Given the description of an element on the screen output the (x, y) to click on. 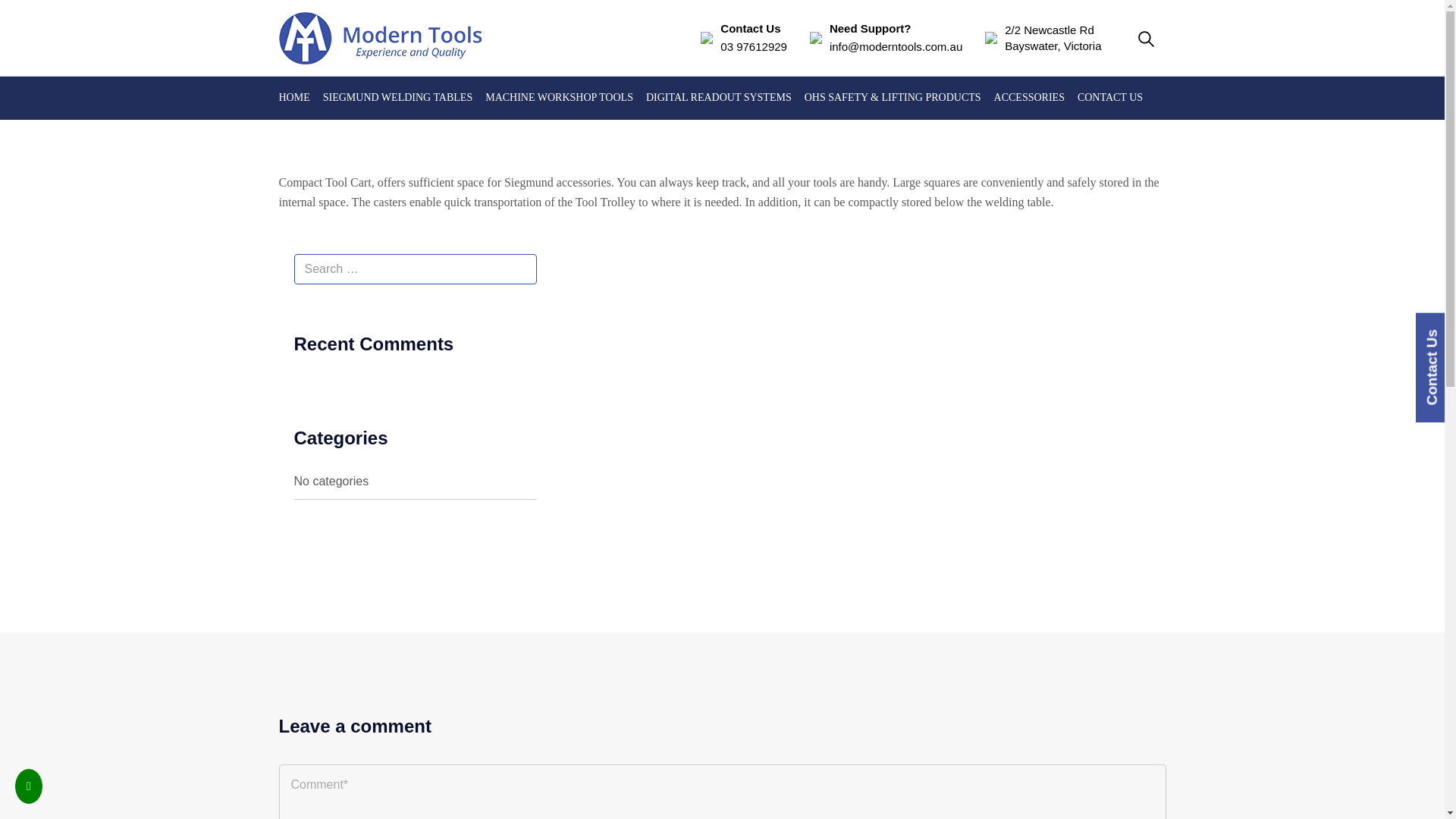
CONTACT US (1109, 97)
DIGITAL READOUT SYSTEMS (719, 97)
HOME (294, 97)
SIEGMUND WELDING TABLES (397, 97)
ACCESSORIES (1029, 97)
03 97612929 (753, 46)
MACHINE WORKSHOP TOOLS (558, 97)
